Given the description of an element on the screen output the (x, y) to click on. 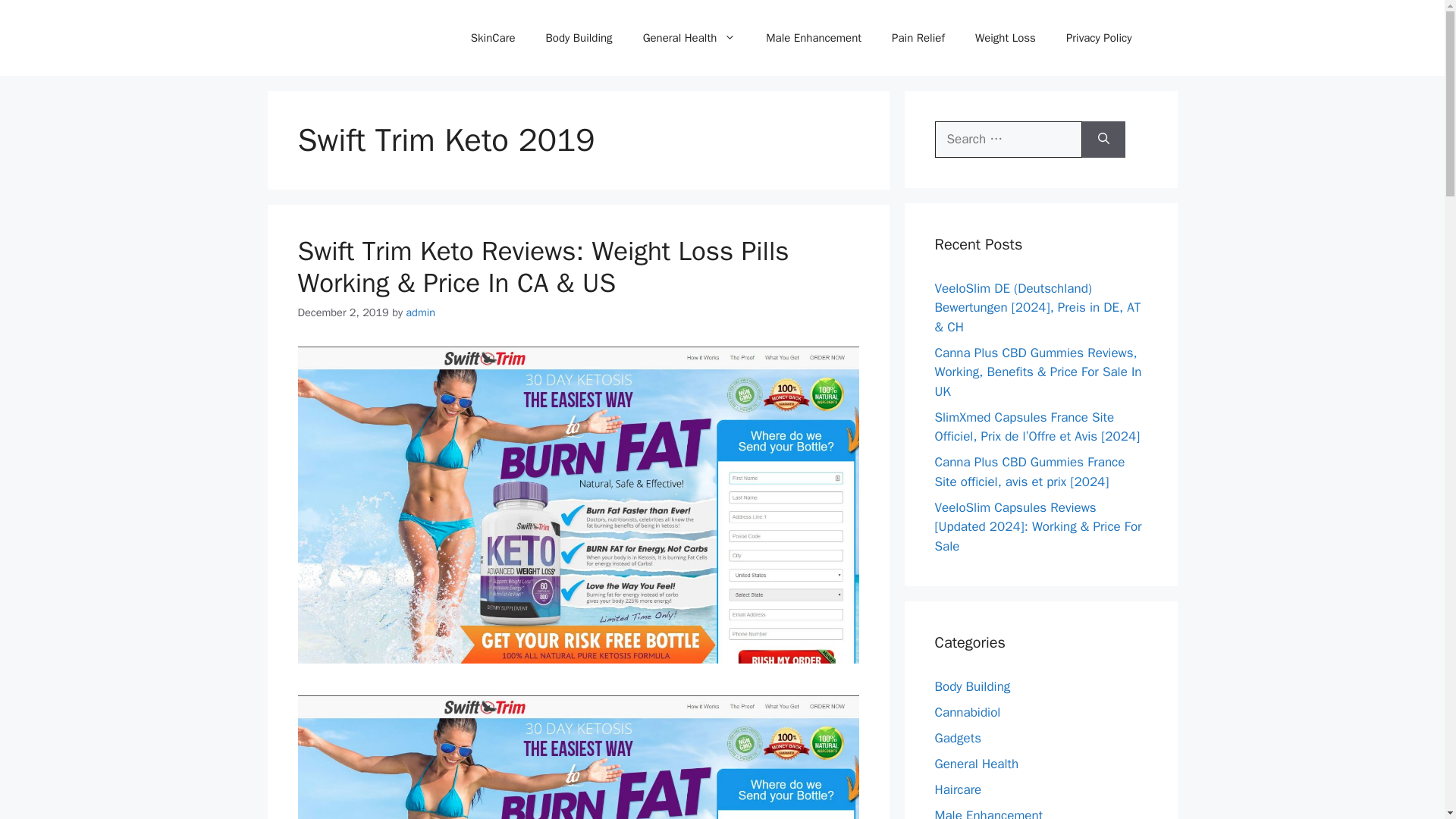
Cannabidiol (967, 712)
Gadgets (956, 738)
View all posts by admin (420, 312)
Privacy Policy (1099, 37)
Body Building (579, 37)
Search for: (1007, 139)
Body Building (972, 686)
General Health (689, 37)
admin (420, 312)
Weight Loss (1005, 37)
